Given the description of an element on the screen output the (x, y) to click on. 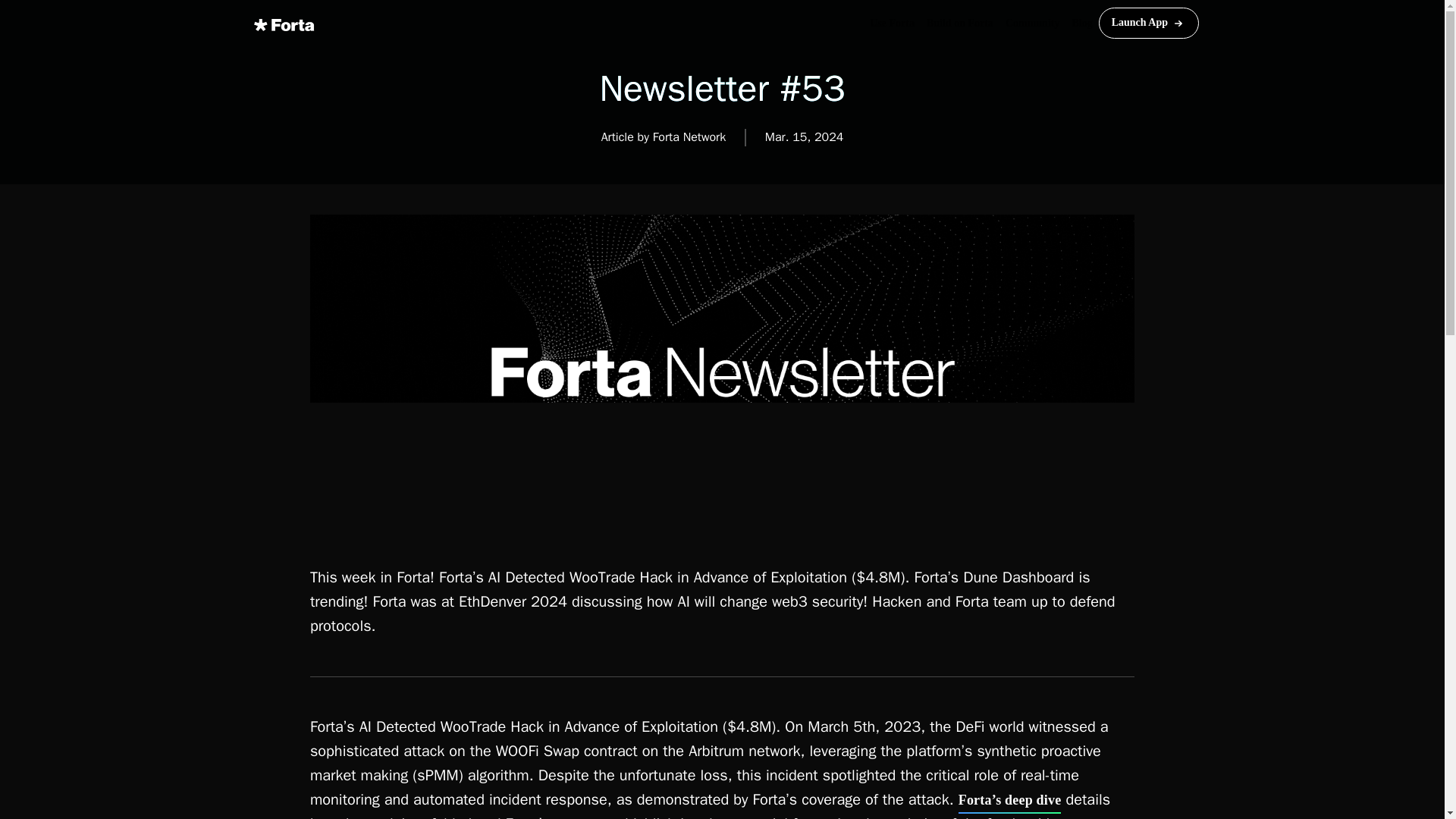
Build on Forta (959, 22)
Blog (1081, 22)
Community (1031, 22)
Use Forta (891, 22)
Launch App (1148, 22)
